Given the description of an element on the screen output the (x, y) to click on. 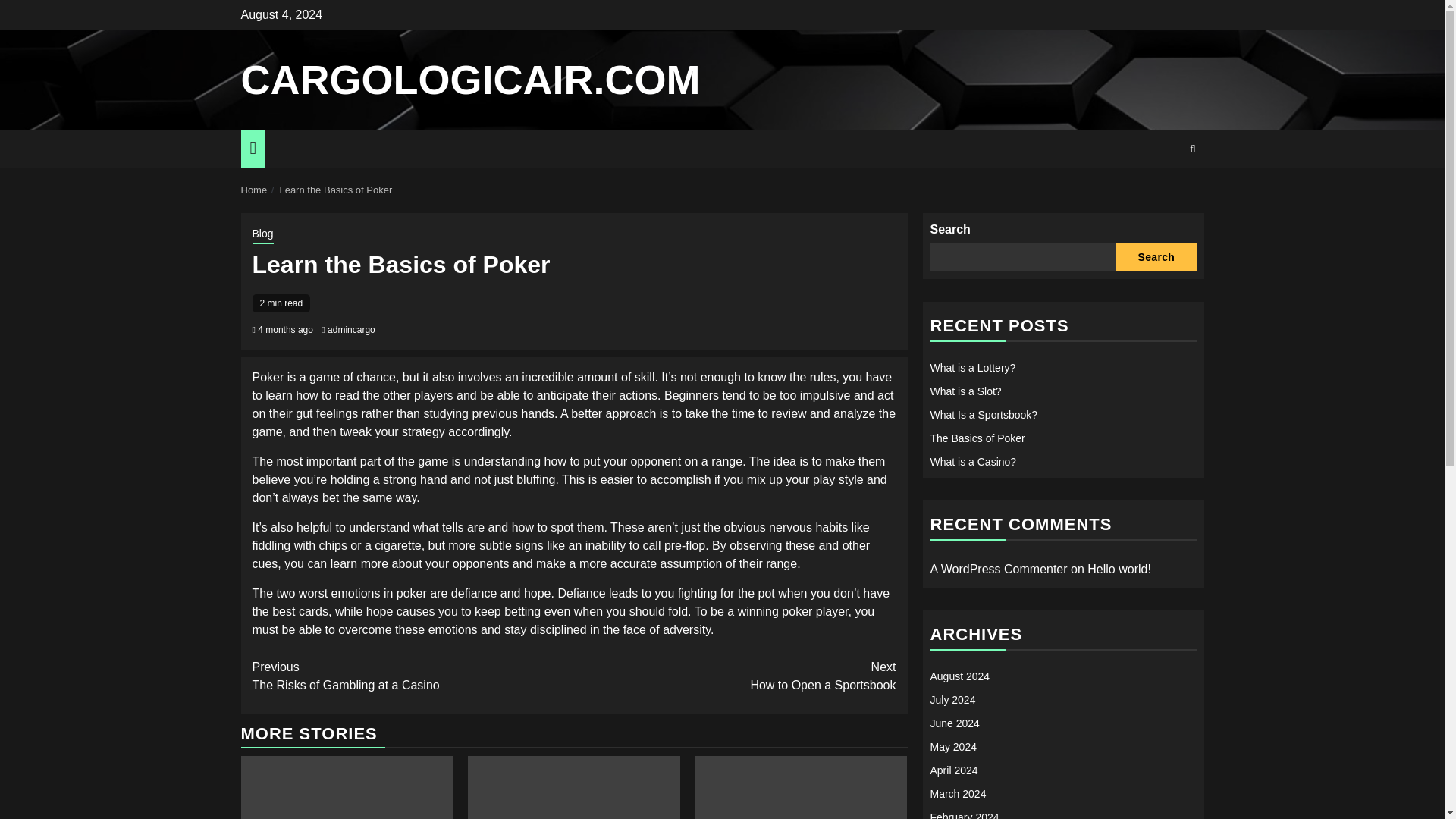
What Is a Sportsbook? (983, 413)
Search (1155, 256)
Learn the Basics of Poker (335, 189)
What is a Casino? (973, 460)
May 2024 (952, 746)
Home (254, 189)
March 2024 (957, 793)
A WordPress Commenter (998, 568)
What is a Slot? (965, 390)
August 2024 (960, 676)
July 2024 (952, 699)
CARGOLOGICAIR.COM (470, 79)
June 2024 (954, 723)
February 2024 (734, 676)
